Given the description of an element on the screen output the (x, y) to click on. 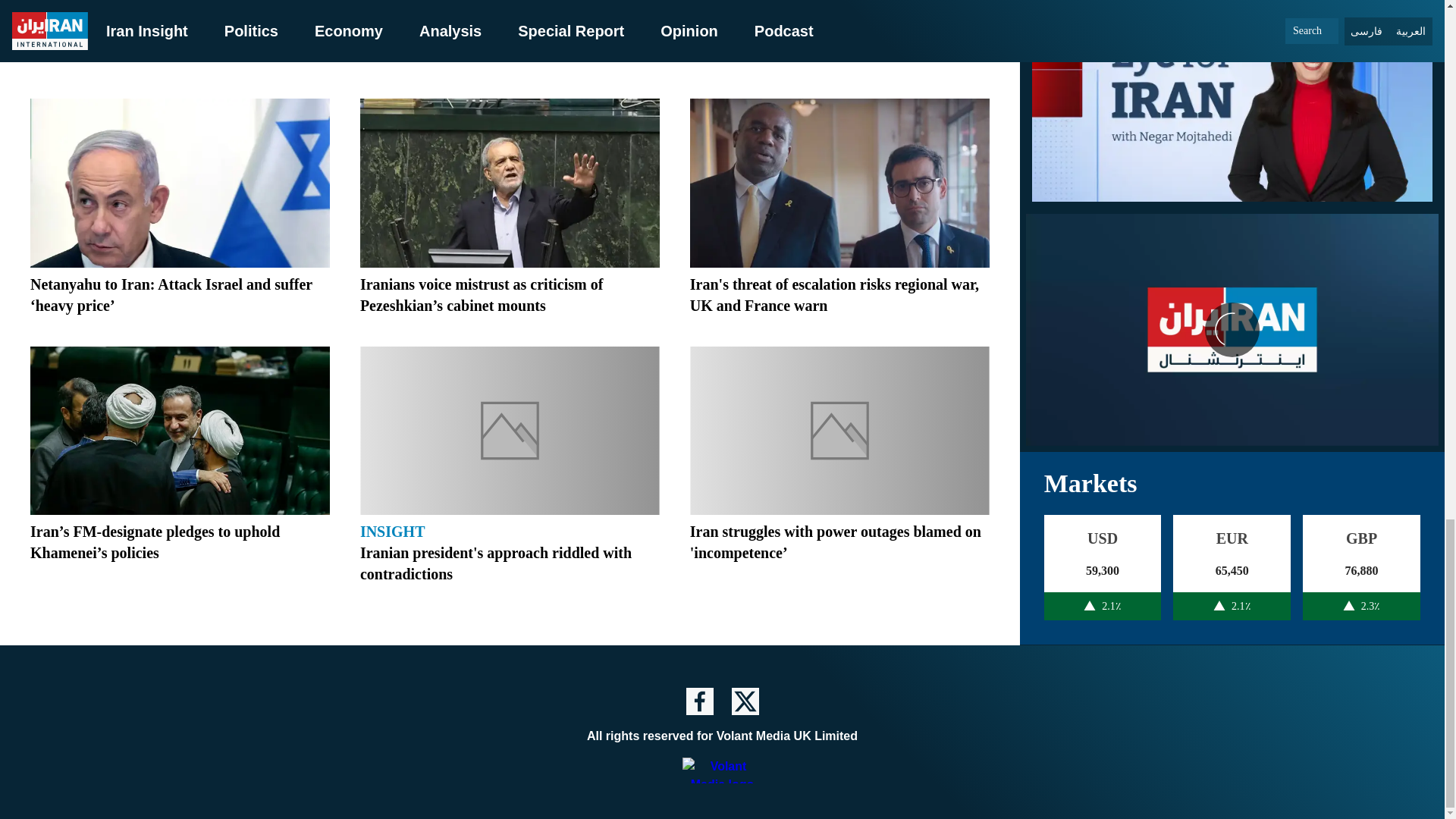
Iranian president's approach riddled with contradictions (495, 563)
More News (510, 50)
